Given the description of an element on the screen output the (x, y) to click on. 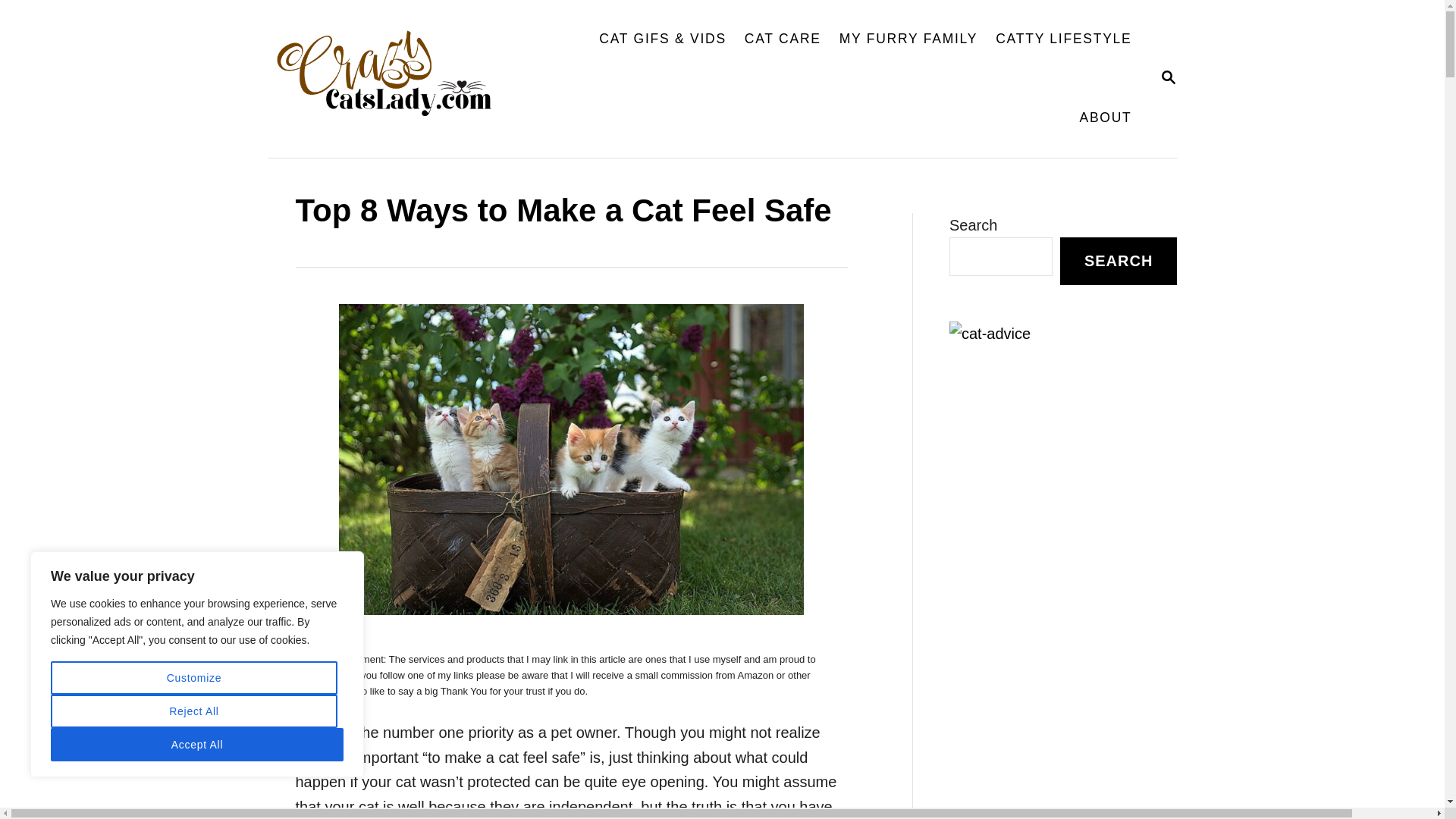
Accept All (196, 744)
CAT CARE (782, 39)
Customize (193, 677)
MAGNIFYING GLASS (1167, 76)
MY FURRY FAMILY (1167, 77)
Crazy Cats Lady (908, 39)
ABOUT (394, 79)
Reject All (1105, 117)
CATTY LIFESTYLE (193, 711)
